Given the description of an element on the screen output the (x, y) to click on. 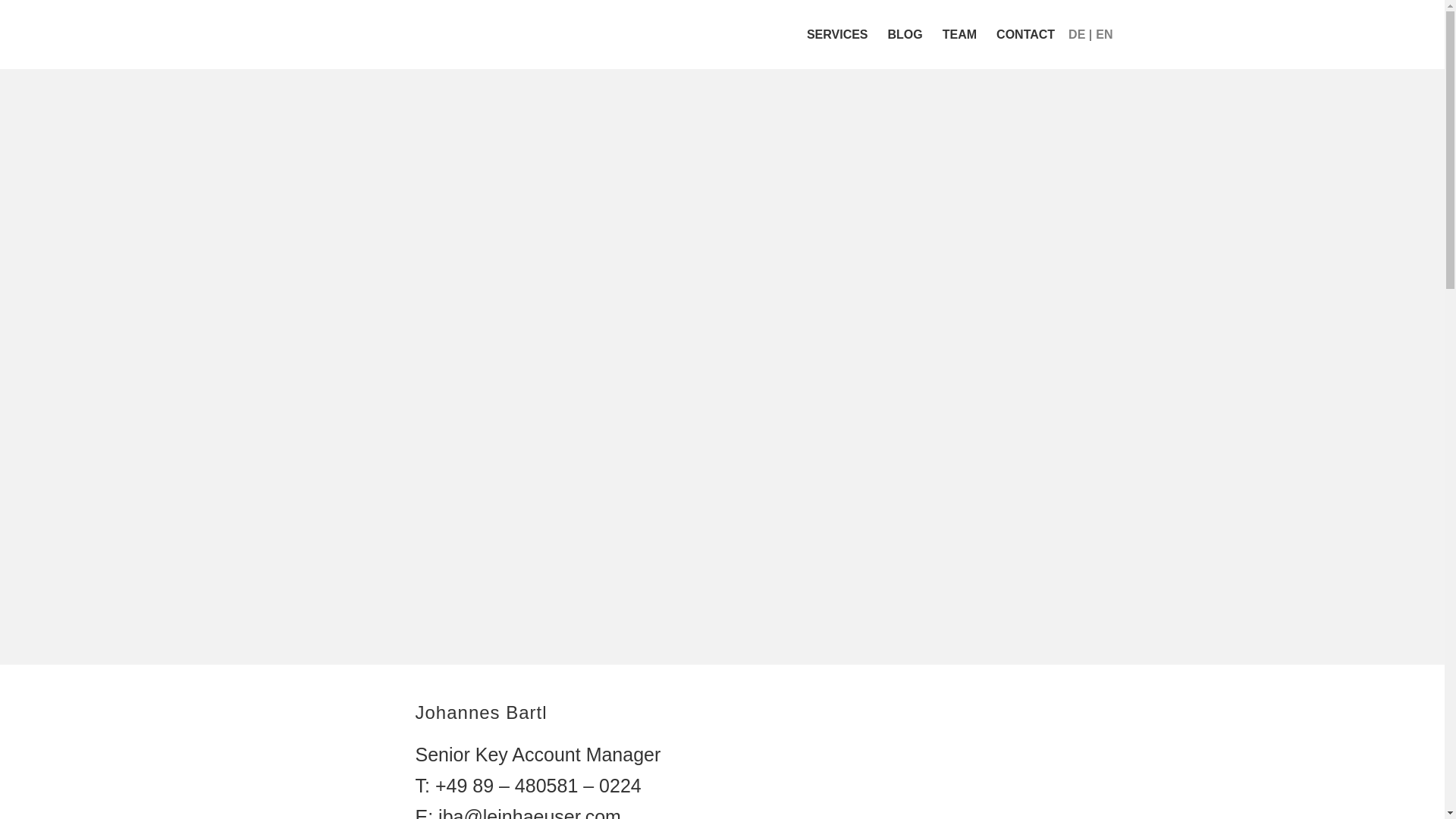
SERVICES (836, 34)
CONTACT (1025, 34)
Johannes Bartl (997, 760)
